Given the description of an element on the screen output the (x, y) to click on. 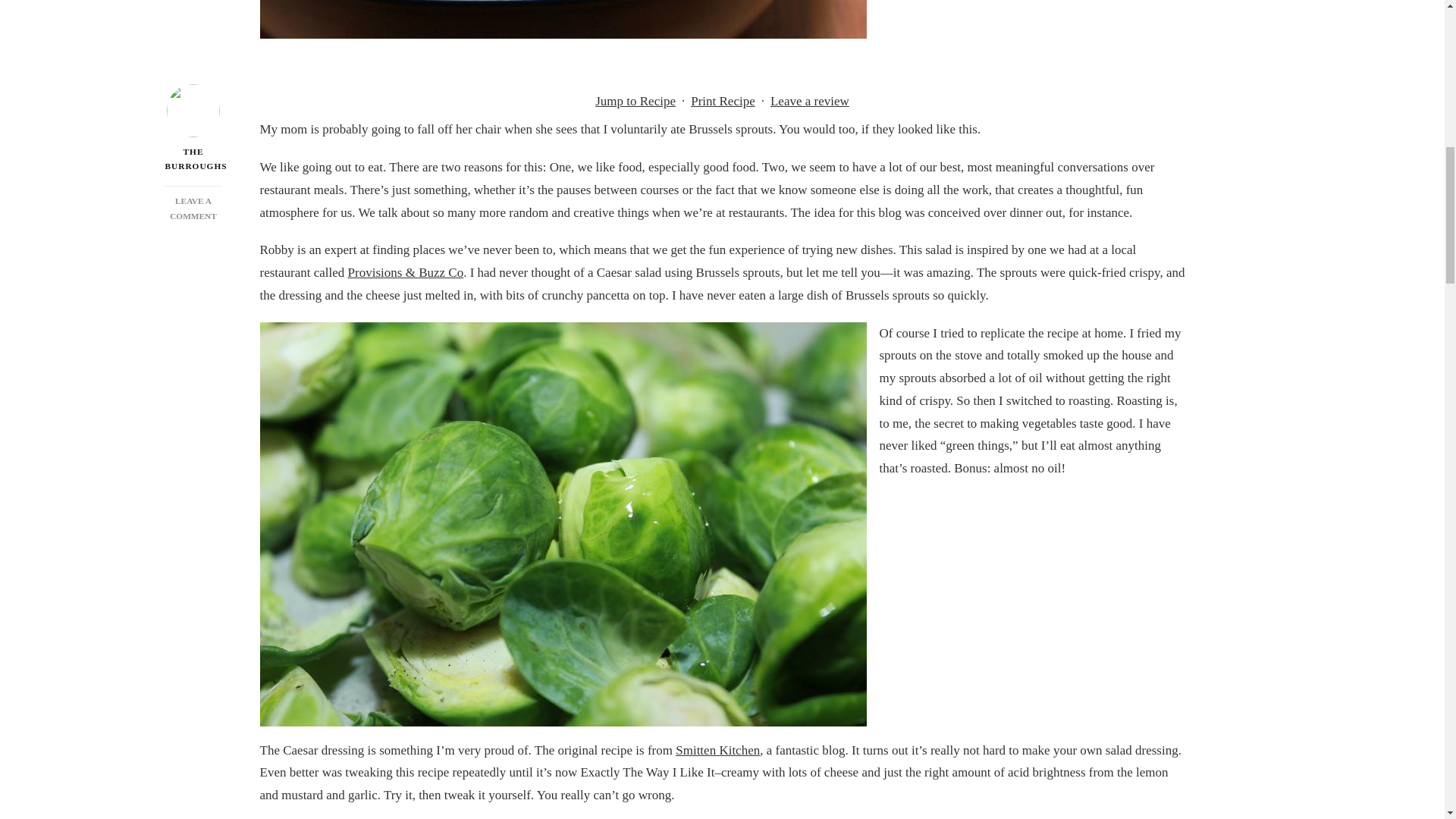
THE BURROUGHS (193, 129)
Smitten Kitchen (717, 749)
Print Recipe (722, 100)
Jump to Recipe (635, 100)
Leave a review (810, 101)
